Given the description of an element on the screen output the (x, y) to click on. 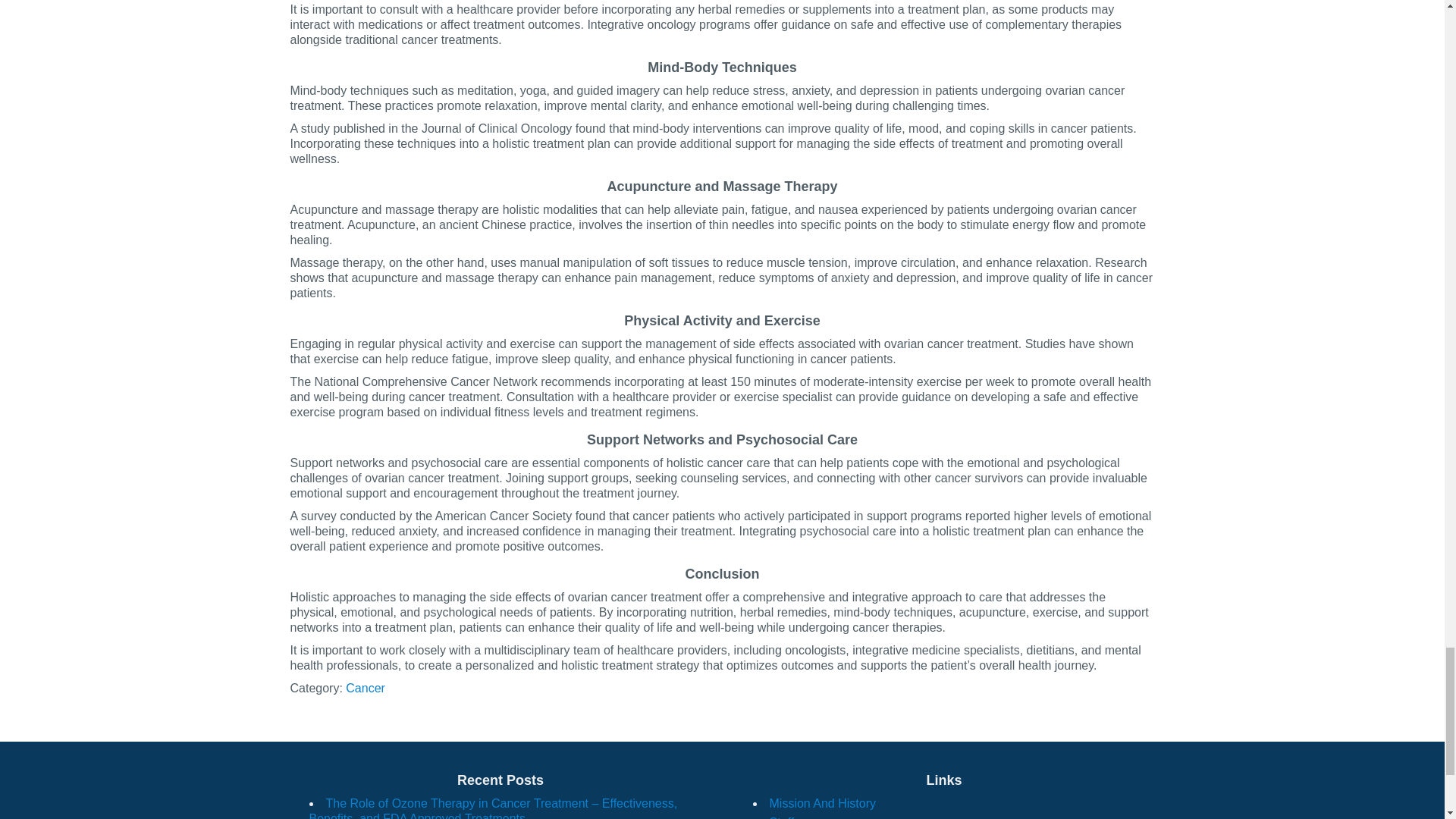
Mission And History (822, 802)
Staff (780, 817)
Cancer (365, 687)
